Given the description of an element on the screen output the (x, y) to click on. 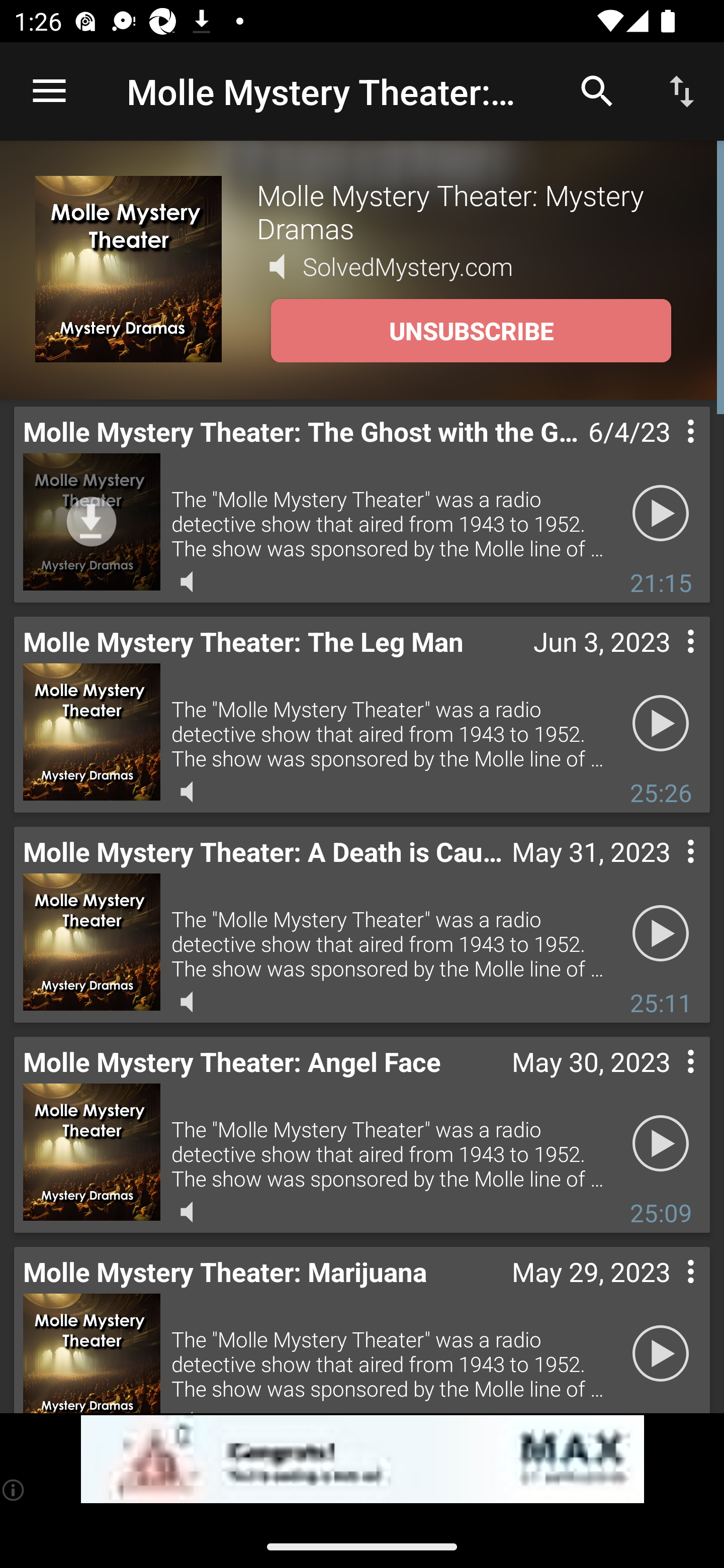
Open navigation sidebar (49, 91)
Search (597, 90)
Sort (681, 90)
UNSUBSCRIBE (470, 330)
Contextual menu (668, 451)
Play (660, 513)
Contextual menu (668, 661)
Play (660, 723)
Contextual menu (668, 870)
Play (660, 933)
Contextual menu (668, 1080)
Play (660, 1143)
Contextual menu (668, 1290)
Play (660, 1353)
app-monetization (362, 1459)
(i) (14, 1489)
